Given the description of an element on the screen output the (x, y) to click on. 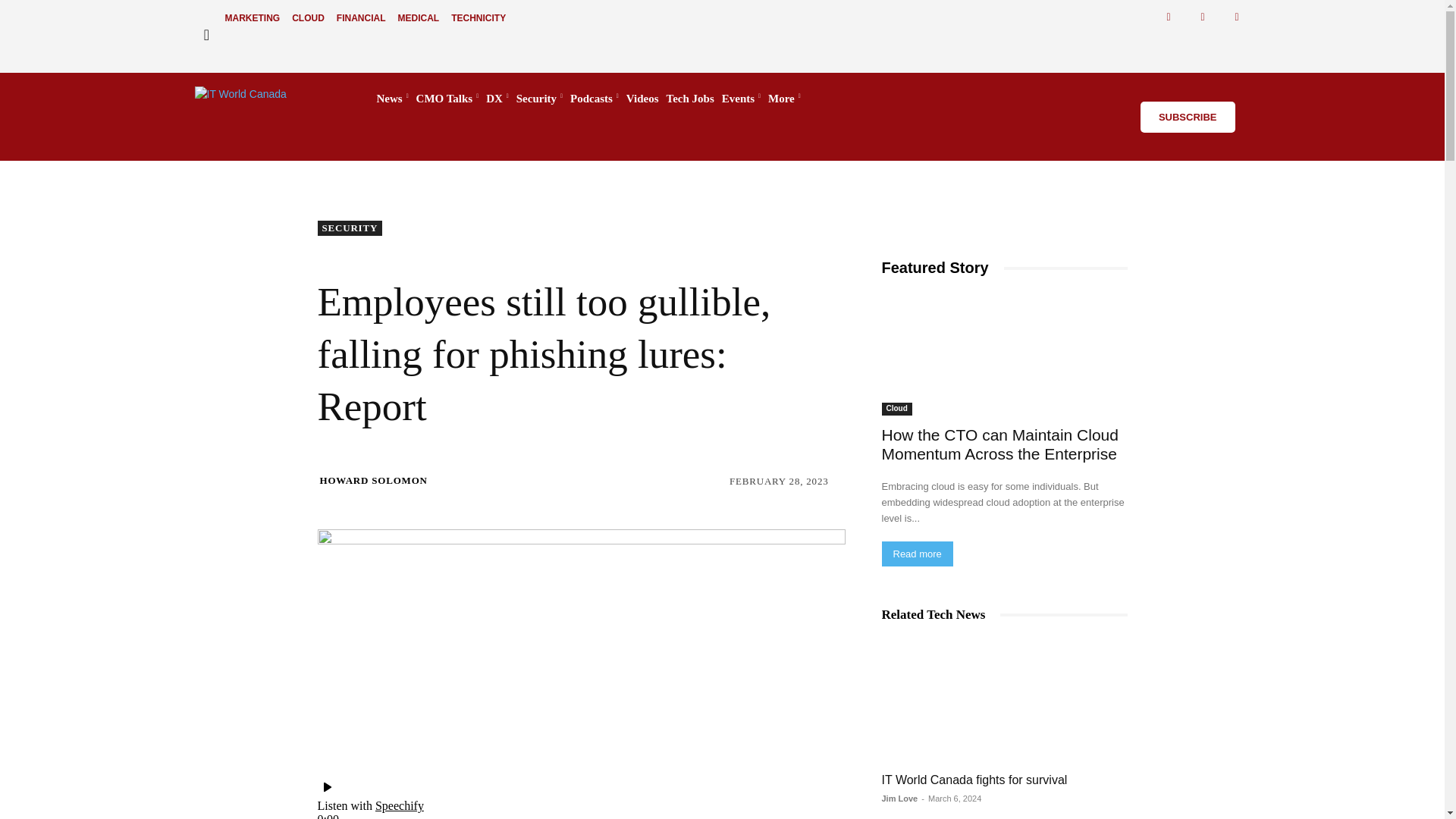
IT World Canada - IT News (269, 98)
FINANCIAL (360, 18)
Facebook (1169, 17)
Twitter (1202, 17)
CLOUD (307, 18)
MEDICAL (418, 18)
TECHNICITY (478, 18)
MARKETING (251, 18)
Rss (1237, 17)
